Given the description of an element on the screen output the (x, y) to click on. 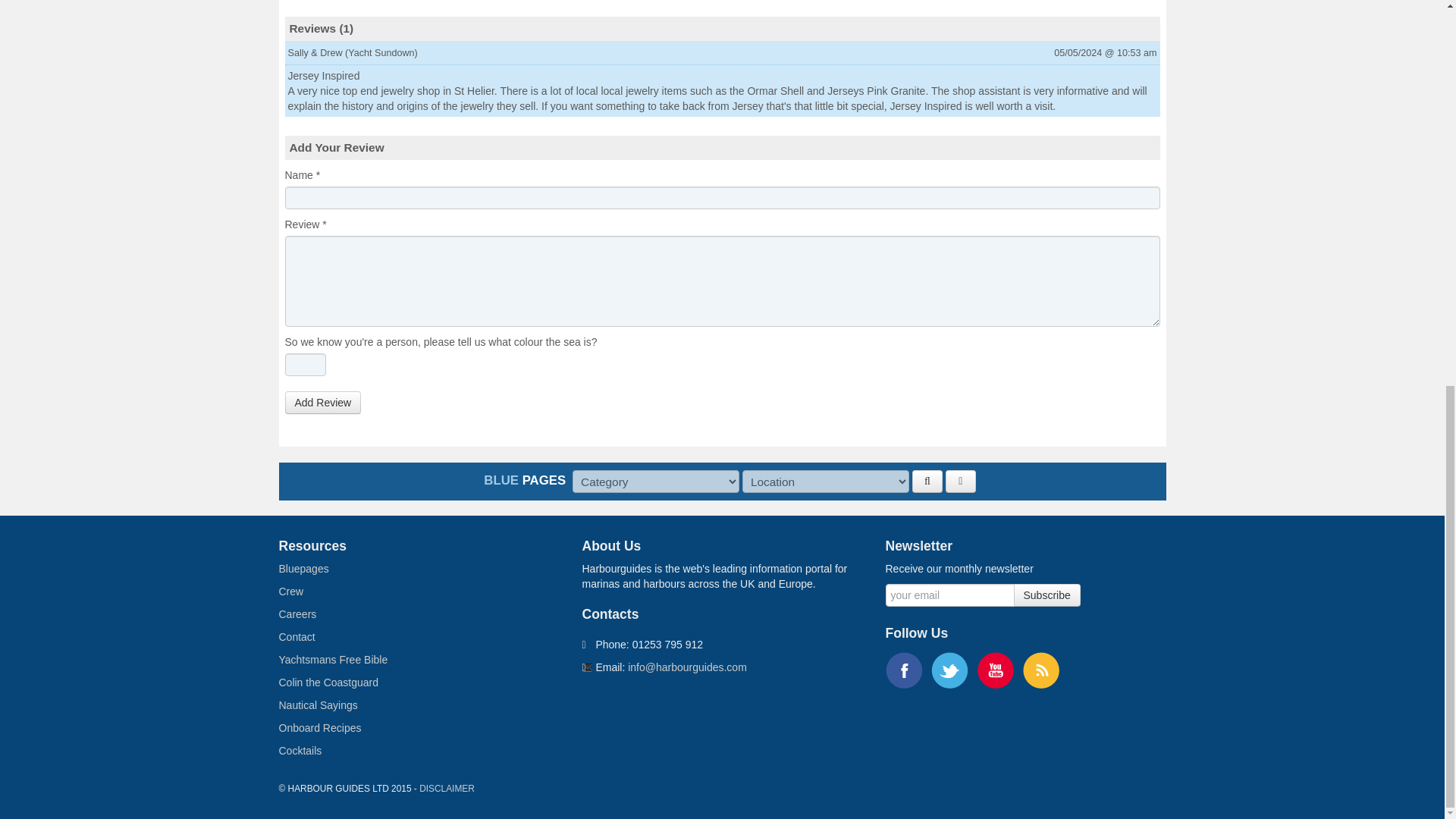
Contact (297, 636)
Careers (298, 613)
Add Review (323, 402)
Yachtsmans Free Bible (333, 659)
Colin the Coastguard (328, 682)
Add Review (323, 402)
Nautical Sayings (318, 705)
Bluepages (304, 568)
Crew (291, 591)
